Given the description of an element on the screen output the (x, y) to click on. 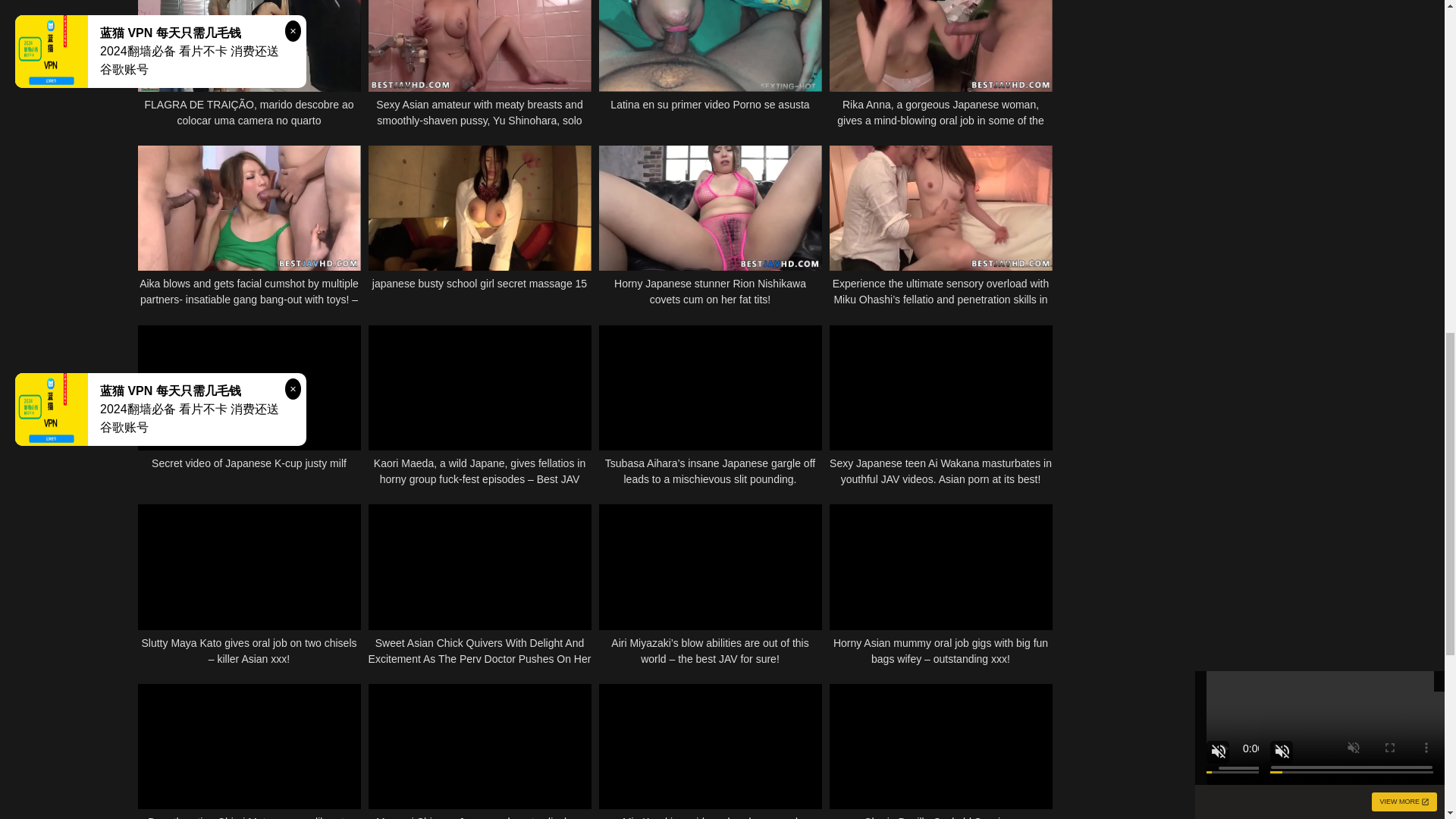
Latina en su primer video Porno se asusta (710, 64)
Secret video of Japanese K-cup justy milf (249, 406)
japanese busty school girl secret massage 15 (479, 226)
Secret video of Japanese K-cup justy milf (249, 406)
Cherie Deville Cuckold Sessions (940, 751)
Latina en su primer video Porno se asusta (710, 64)
